Given the description of an element on the screen output the (x, y) to click on. 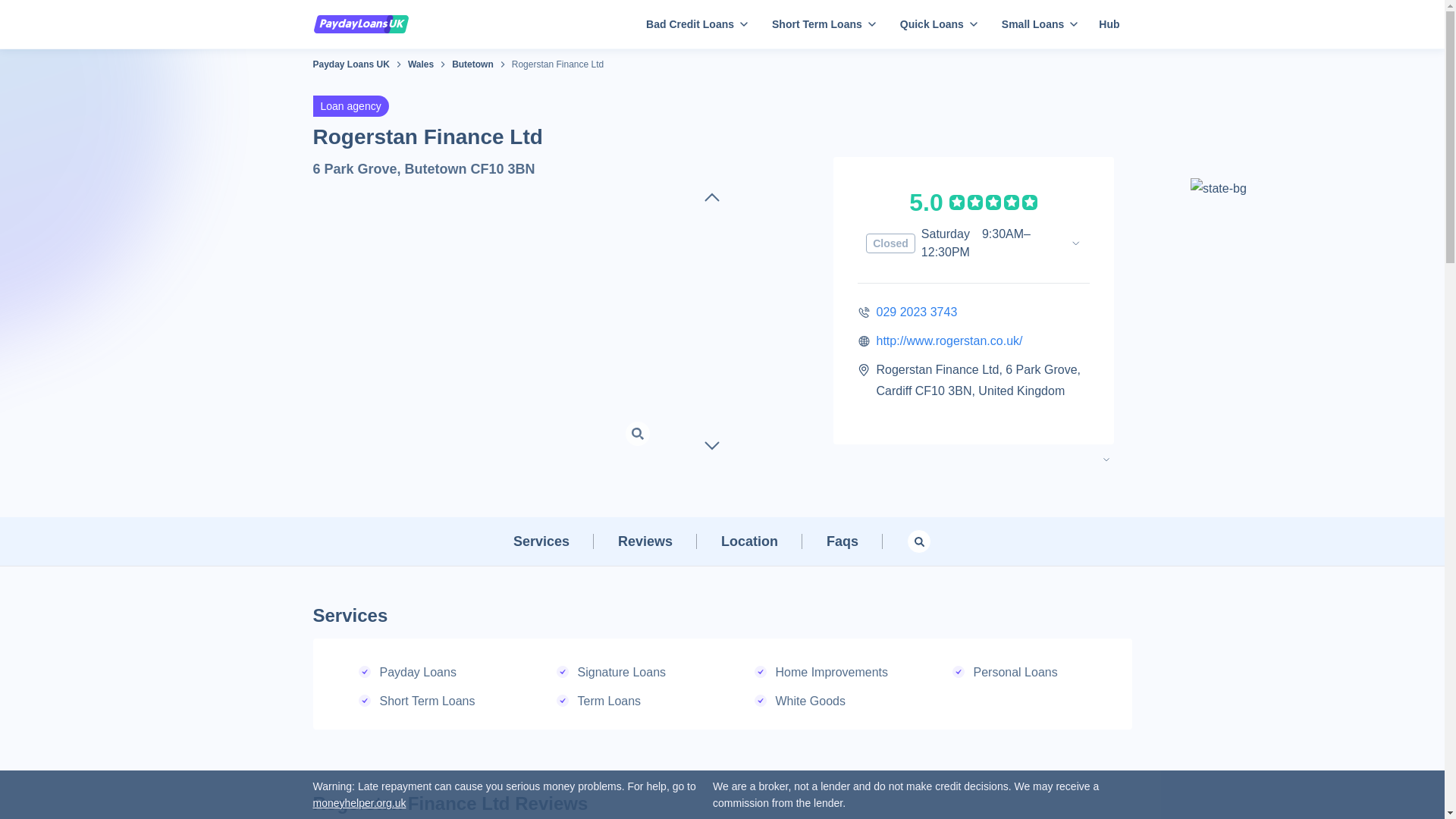
Wales (420, 63)
Short Term Loans (821, 24)
029 2023 3743 (917, 312)
Reviews (644, 540)
Location (748, 540)
Payday Loans UK (350, 63)
Bad Credit Loans (693, 24)
Butetown (472, 63)
Quick Loans (936, 24)
Services (541, 540)
